Given the description of an element on the screen output the (x, y) to click on. 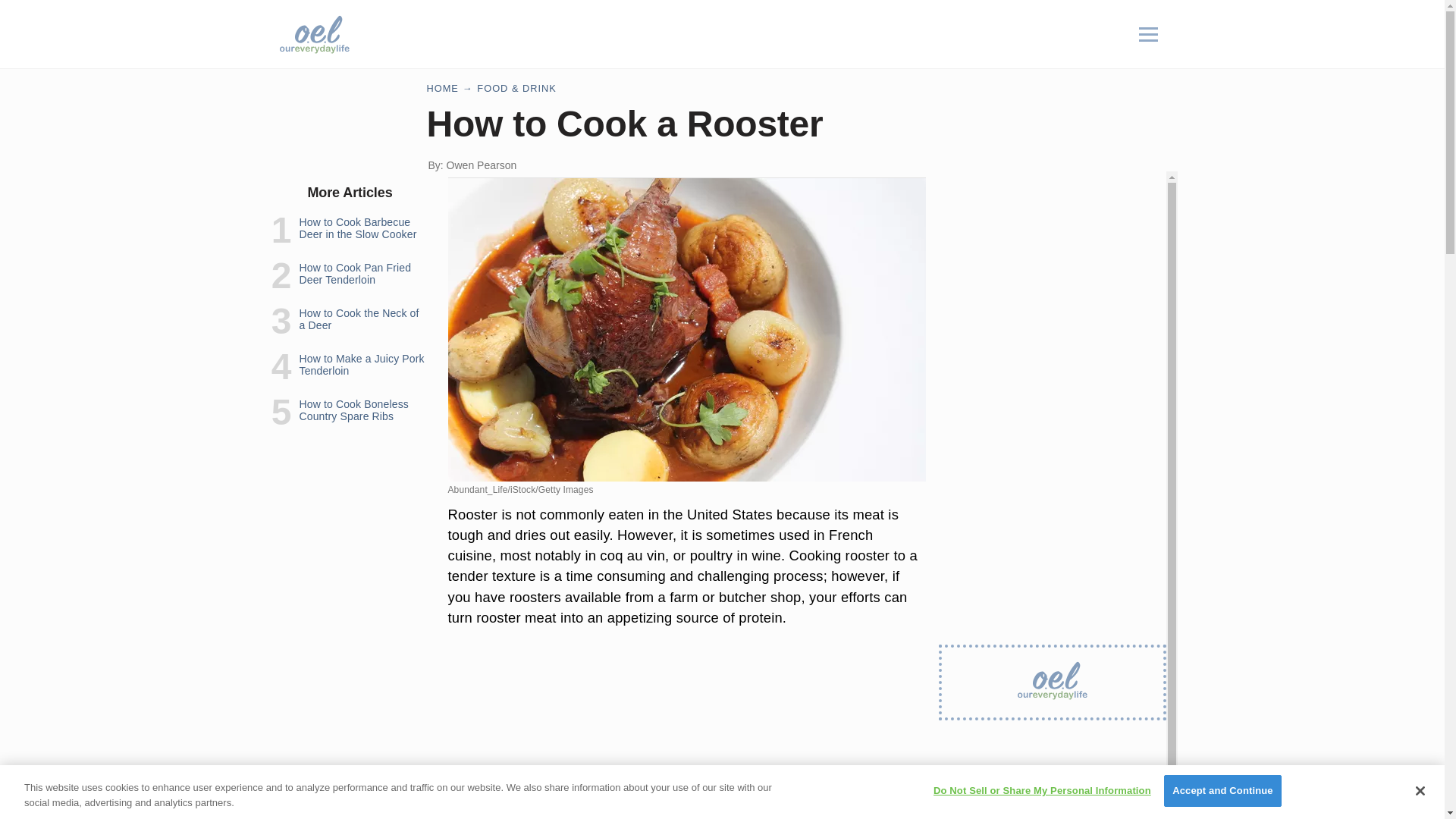
How to Make a Juicy Pork Tenderloin (360, 364)
3rd party ad content (1052, 778)
How to Cook Boneless Country Spare Ribs (352, 410)
How to Cook the Neck of a Deer (358, 319)
HOME (442, 88)
3rd party ad content (686, 735)
3rd party ad content (741, 33)
How to Cook Pan Fried Deer Tenderloin (354, 273)
3rd party ad content (1052, 266)
How to Cook Barbecue Deer in the Slow Cooker (357, 228)
